Given the description of an element on the screen output the (x, y) to click on. 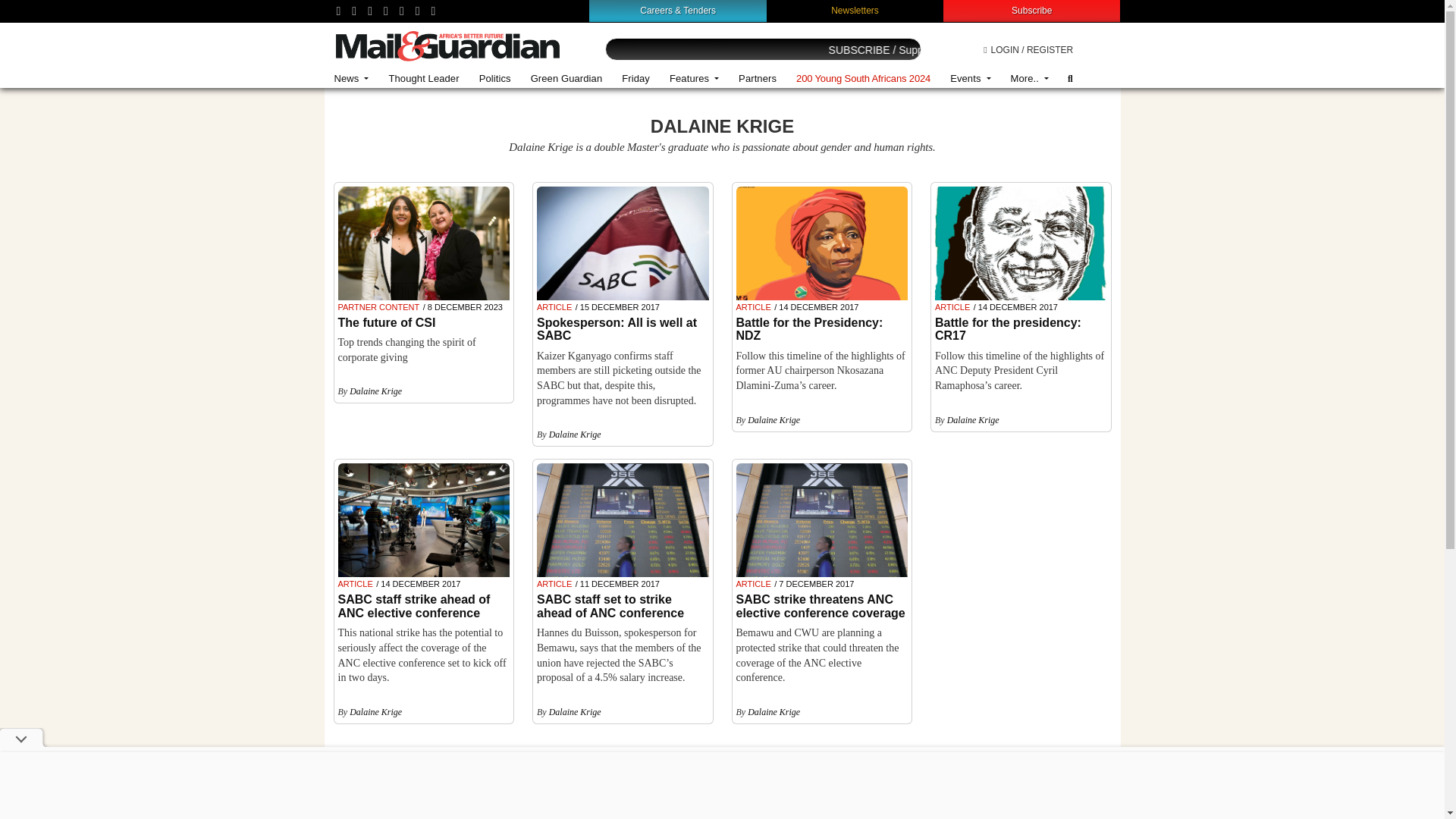
Friday (635, 78)
News (351, 78)
Subscribe (1031, 9)
Green Guardian (566, 78)
Newsletters (855, 9)
News (351, 78)
Thought Leader (423, 78)
Politics (494, 78)
